Given the description of an element on the screen output the (x, y) to click on. 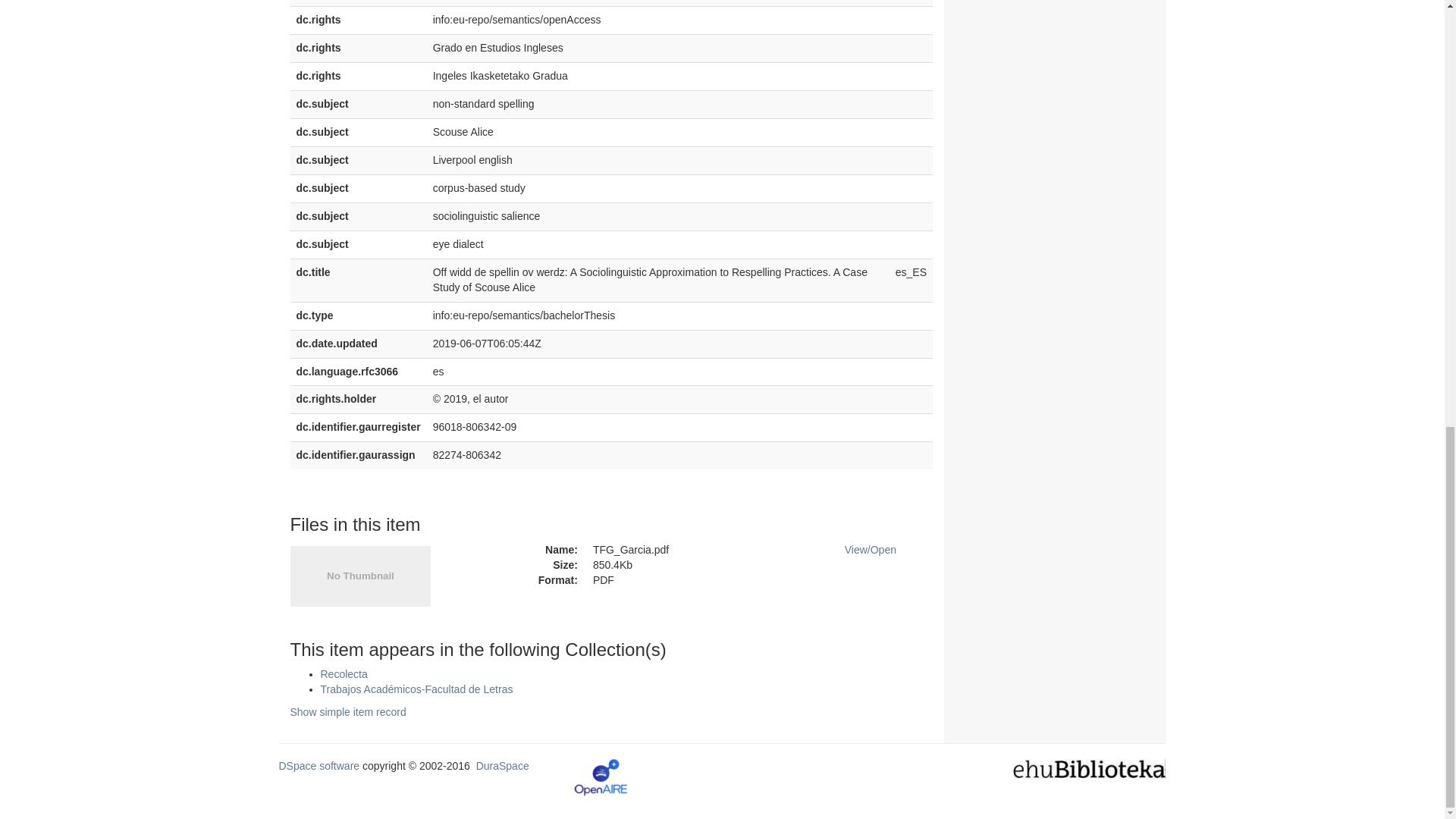
Show simple item record (347, 711)
EHU Biblioteka (1088, 767)
OpenAIRE (600, 776)
Recolecta (343, 674)
